Given the description of an element on the screen output the (x, y) to click on. 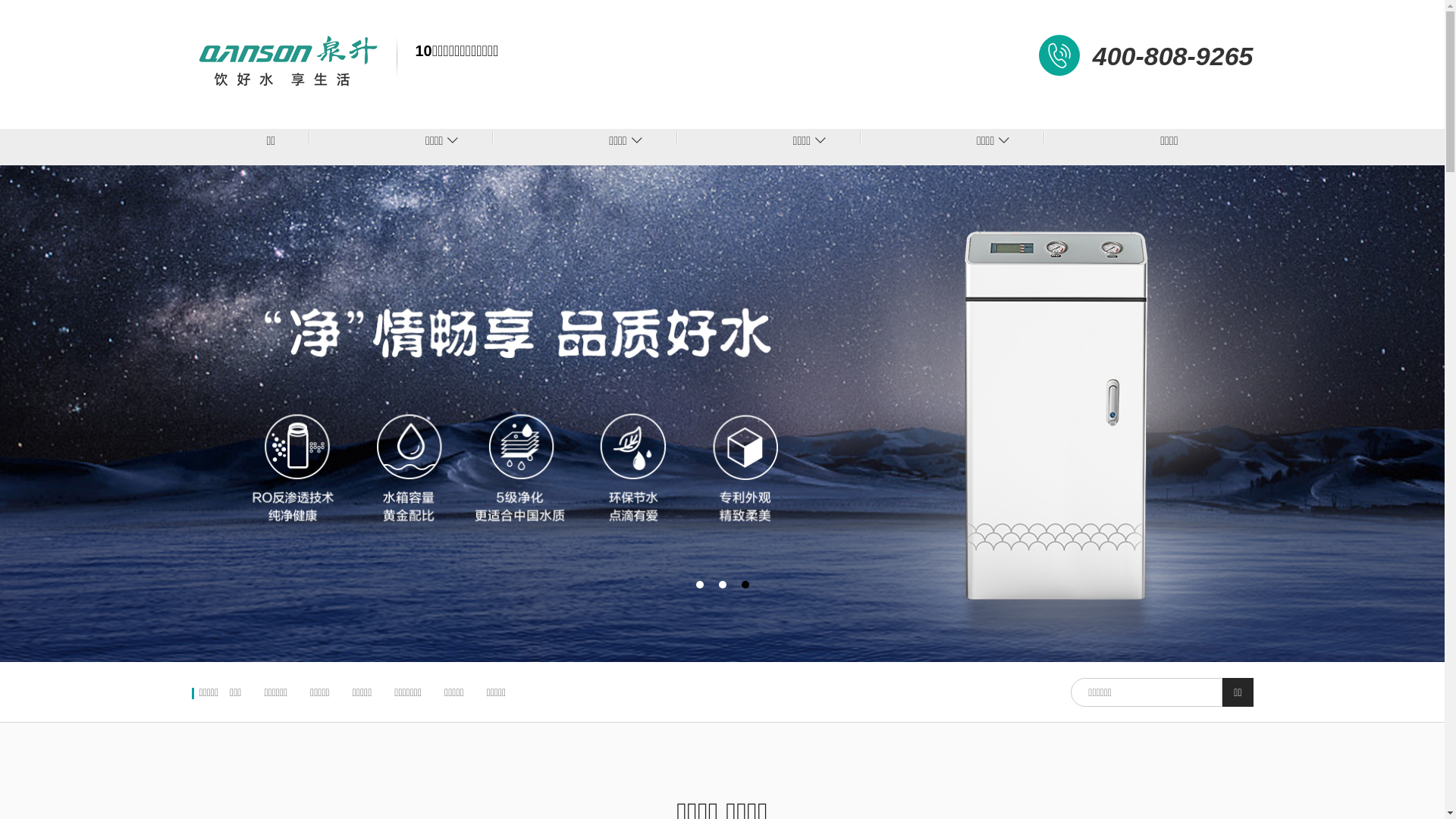
400-808-9265 Element type: text (1172, 55)
